Given the description of an element on the screen output the (x, y) to click on. 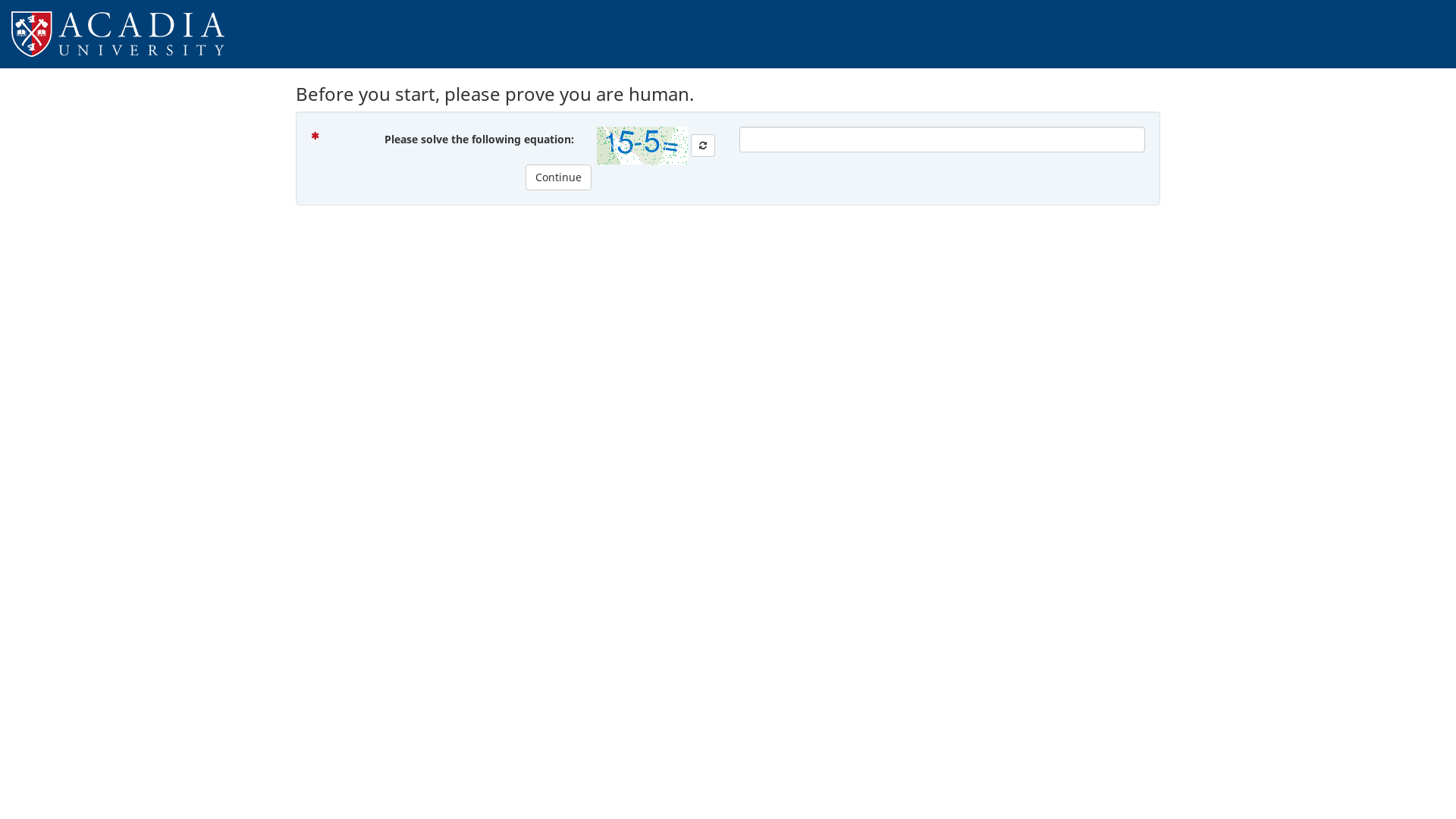
Continue Element type: text (557, 177)
Reload captcha Element type: hover (702, 145)
